Given the description of an element on the screen output the (x, y) to click on. 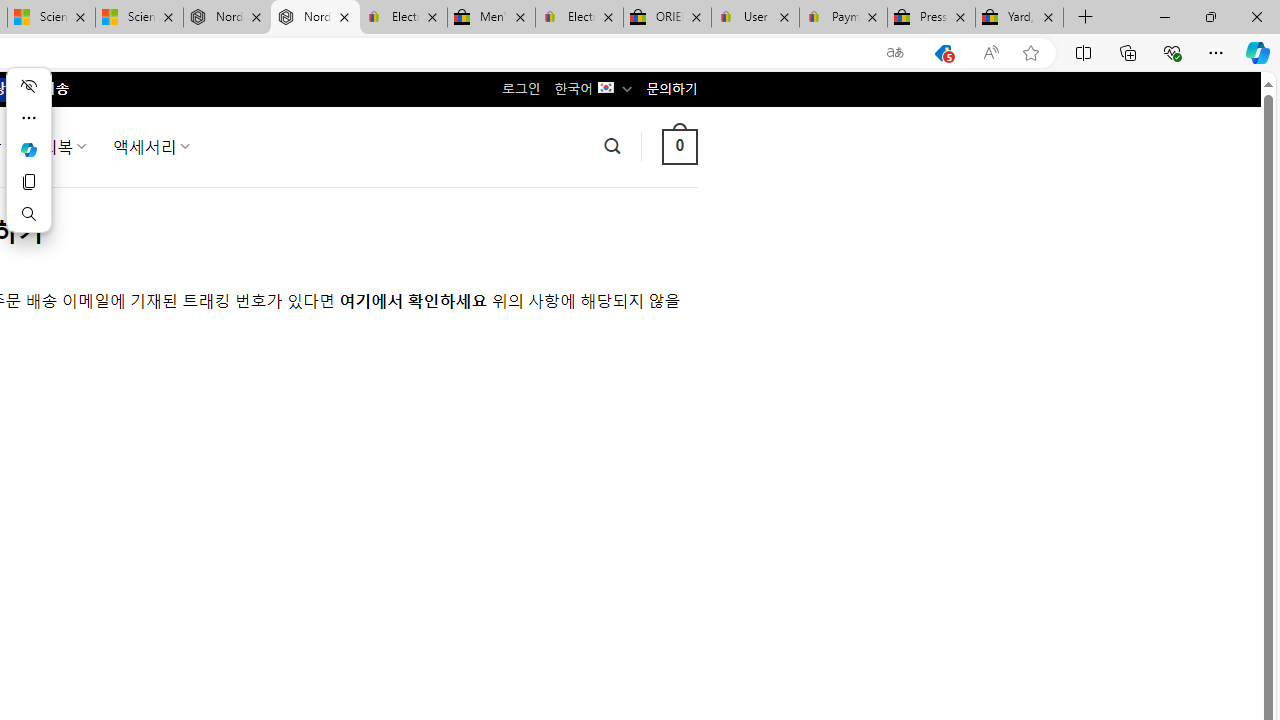
Browser essentials (1171, 52)
Copilot (Ctrl+Shift+.) (1258, 52)
Show translate options (895, 53)
Close (1256, 16)
  0   (679, 146)
Collections (1128, 52)
Close tab (1048, 16)
Minimize (1164, 16)
